Given the description of an element on the screen output the (x, y) to click on. 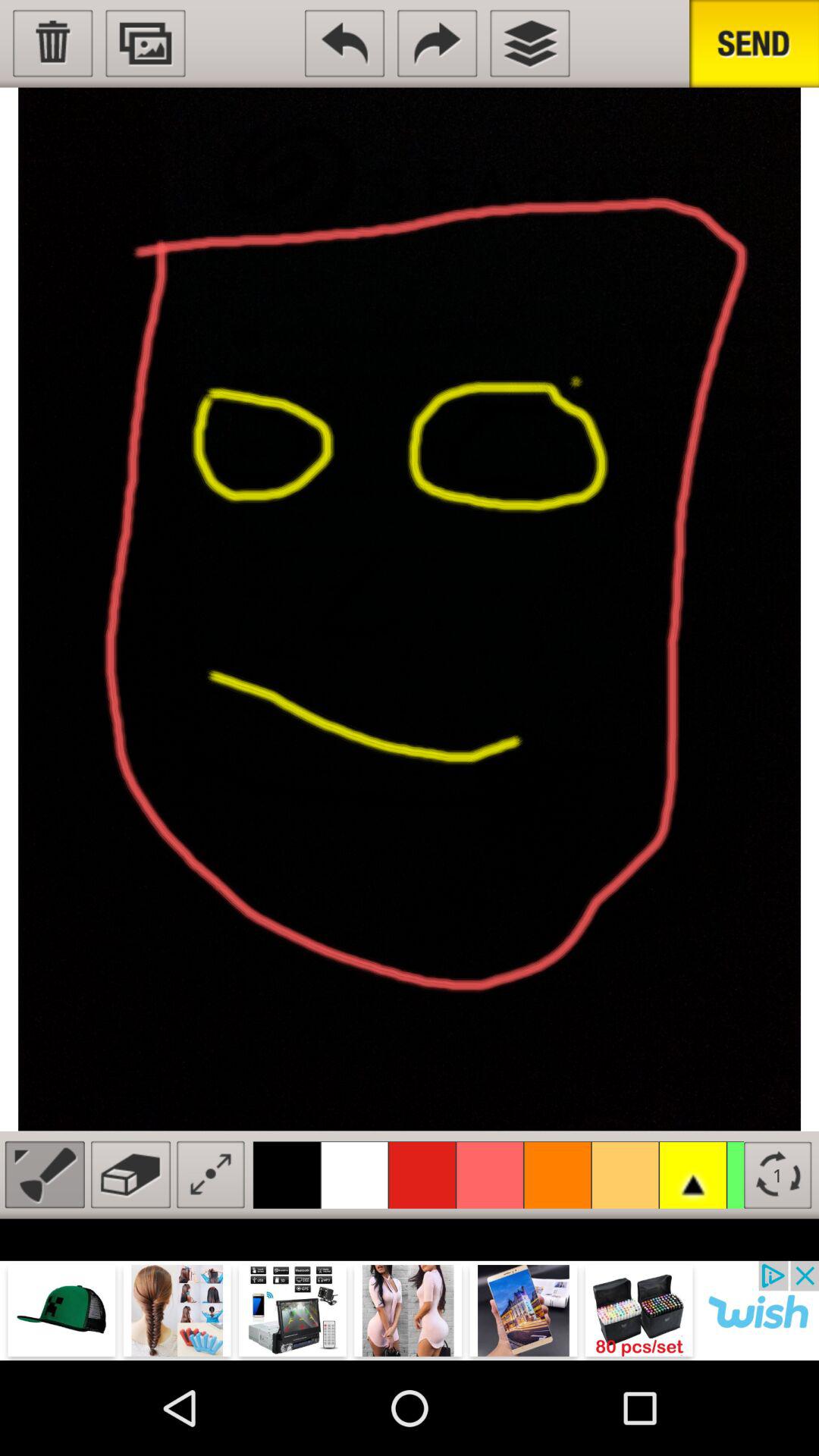
share the image (754, 43)
